Given the description of an element on the screen output the (x, y) to click on. 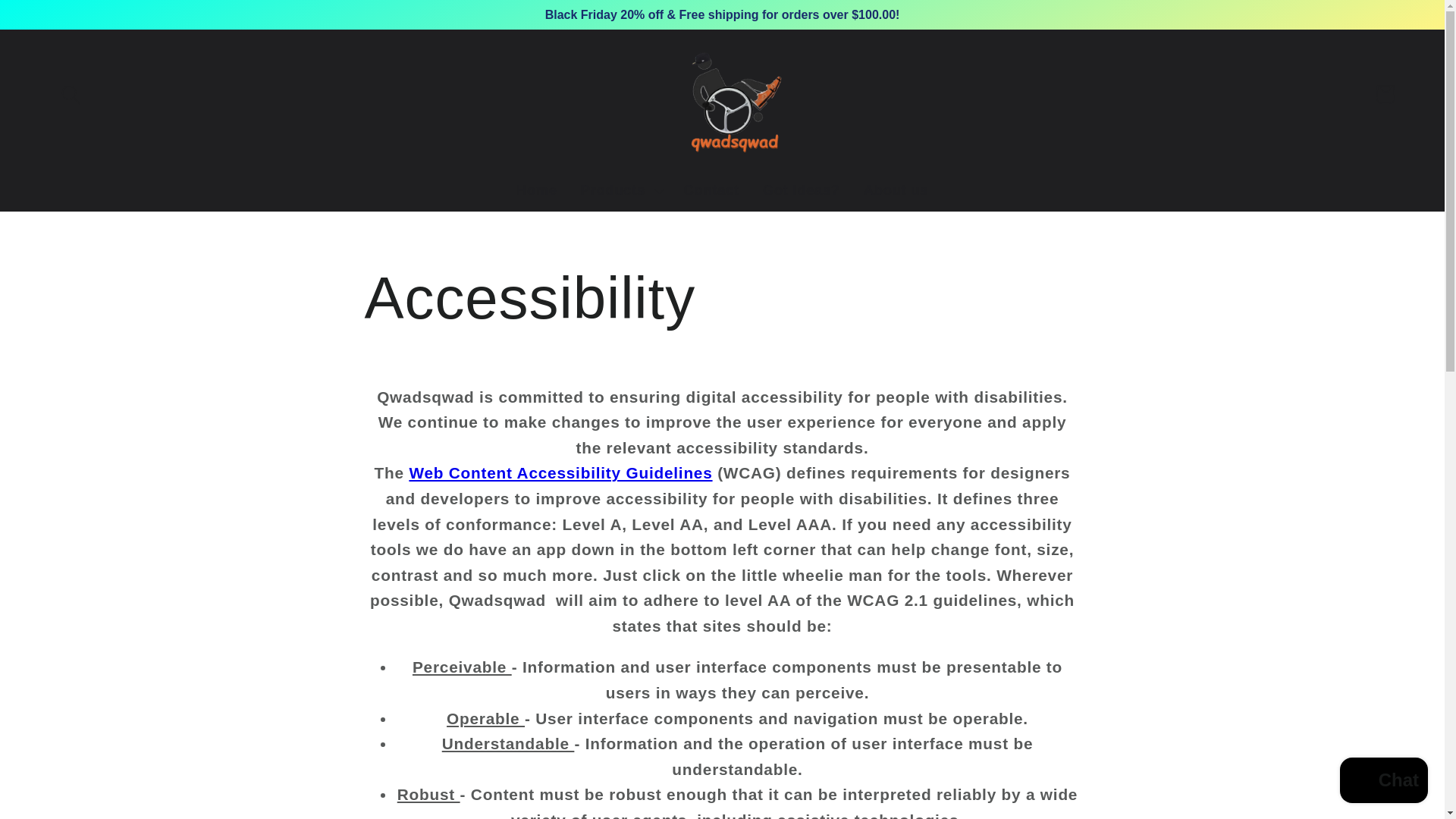
Skip to content (59, 22)
Home (536, 189)
Contact (711, 189)
Web Content Accessibility Guidelines (560, 472)
